Given the description of an element on the screen output the (x, y) to click on. 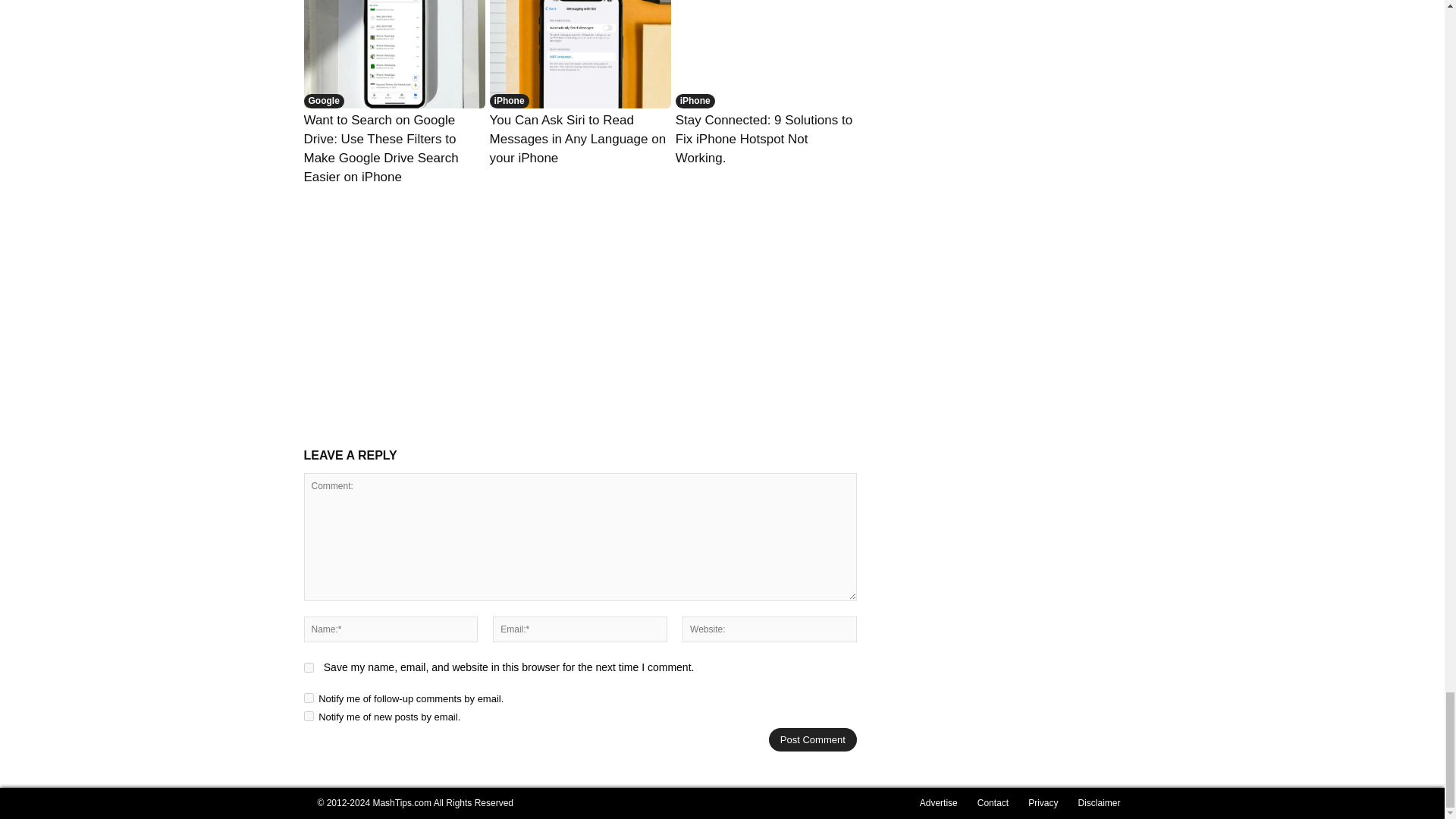
Post Comment (812, 739)
subscribe (307, 697)
subscribe (307, 716)
yes (307, 667)
